Given the description of an element on the screen output the (x, y) to click on. 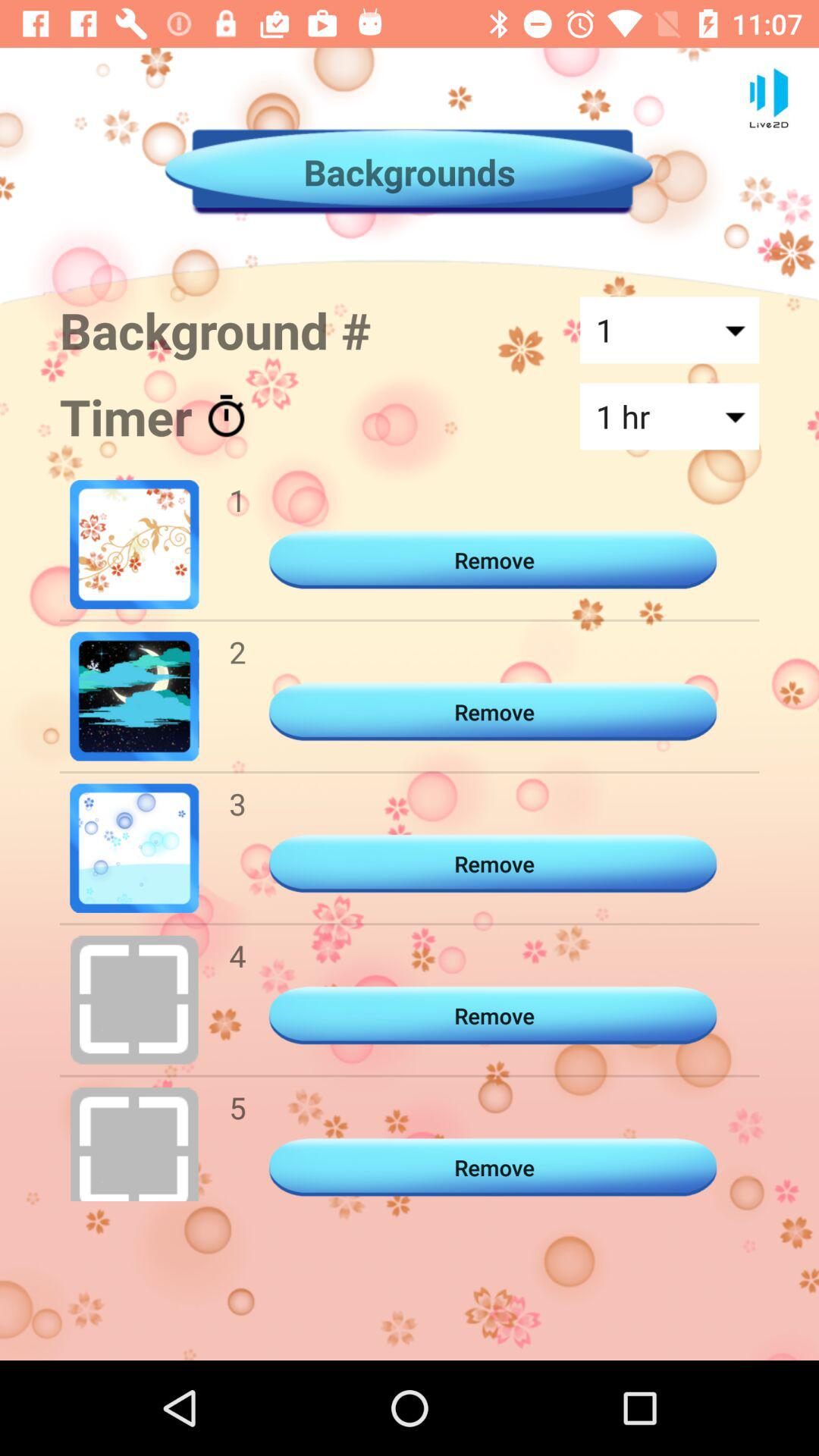
flip until the 5 (237, 1107)
